Given the description of an element on the screen output the (x, y) to click on. 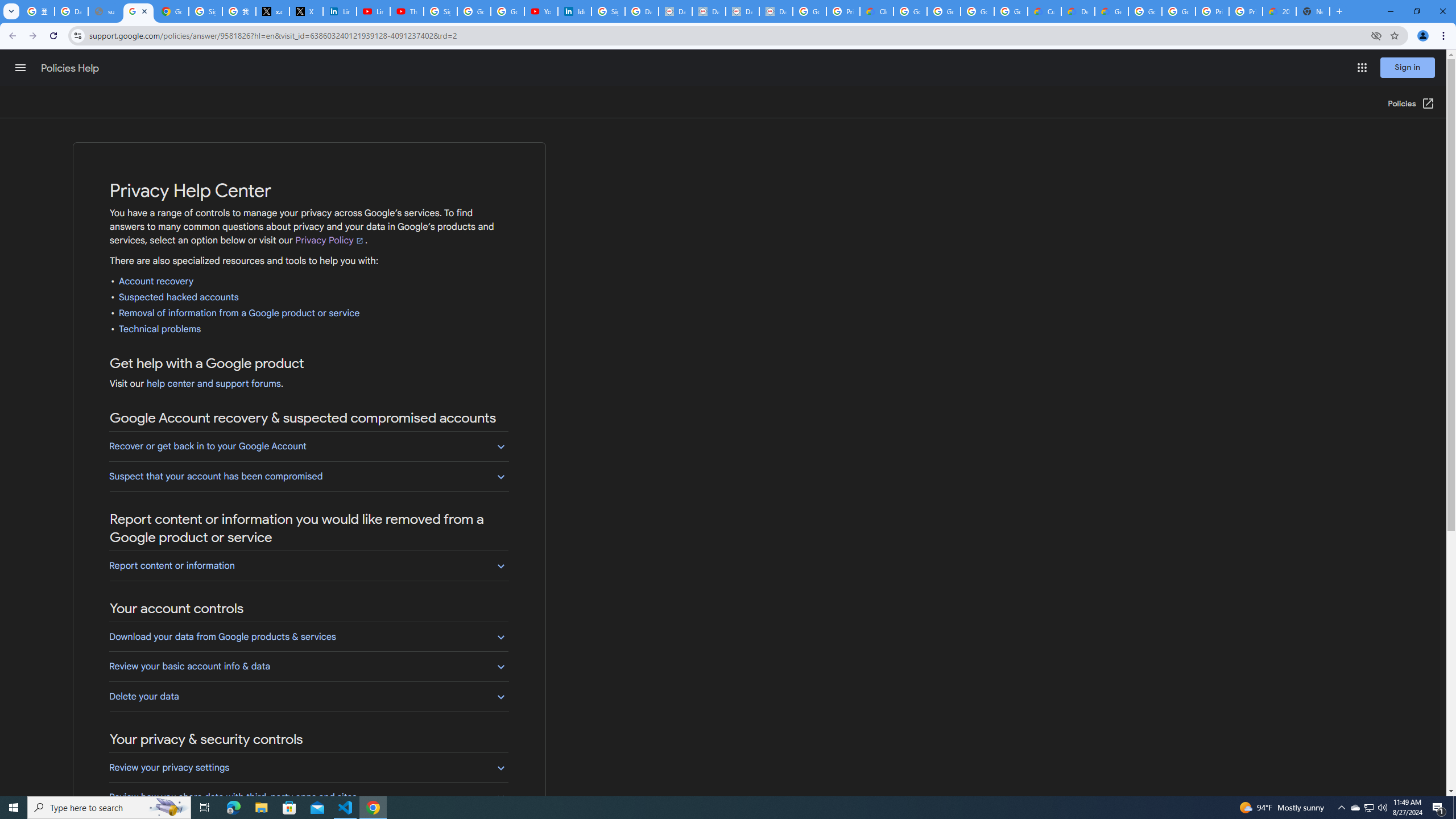
Sign in - Google Accounts (205, 11)
